Given the description of an element on the screen output the (x, y) to click on. 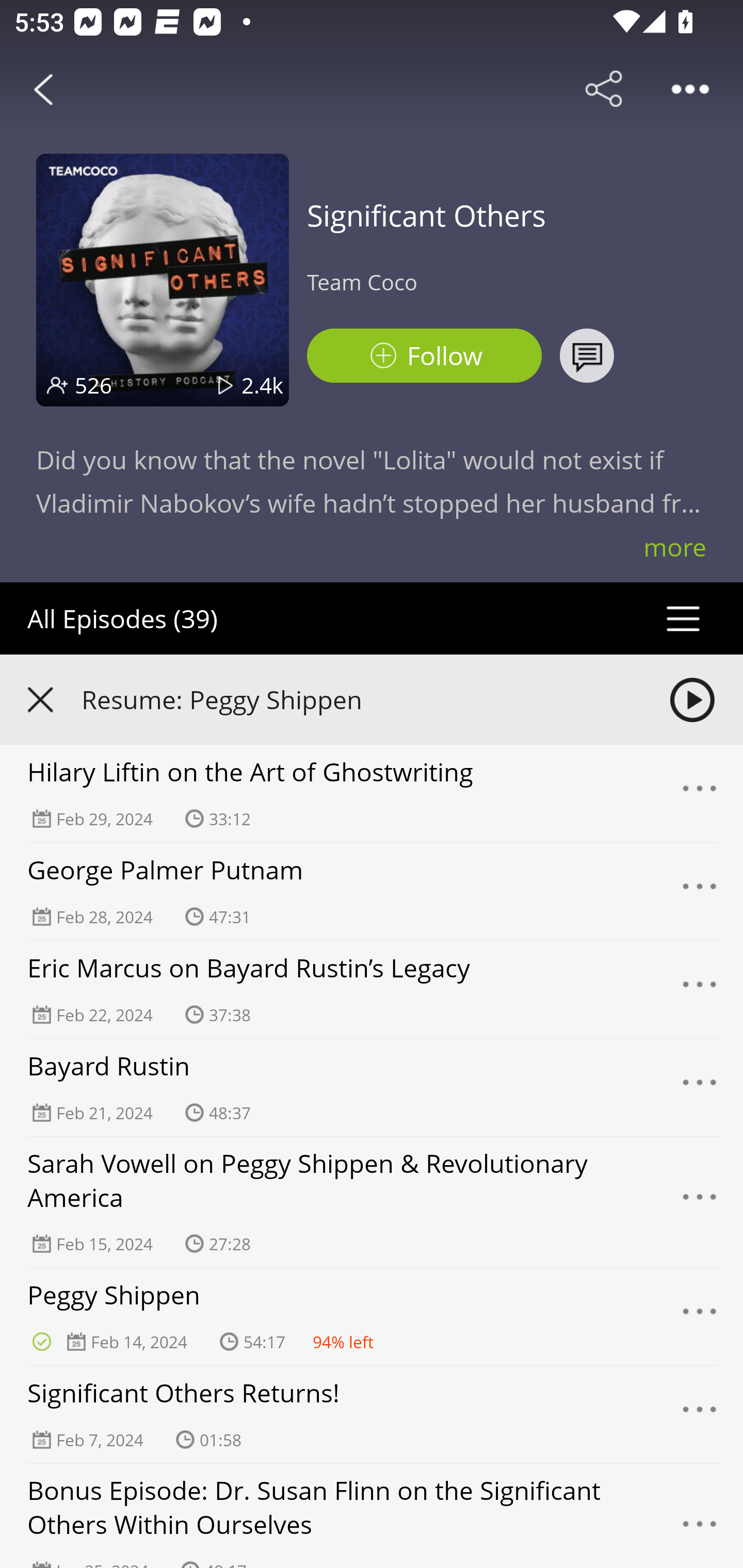
Back (43, 88)
Podbean Follow (423, 355)
526 (93, 384)
more (674, 546)
Resume: Peggy Shippen (371, 698)
Resume: Peggy Shippen (357, 698)
Menu (699, 794)
George Palmer Putnam Feb 28, 2024 47:31 Menu (371, 891)
Menu (699, 891)
Menu (699, 990)
Bayard Rustin Feb 21, 2024 48:37 Menu (371, 1087)
Menu (699, 1087)
Menu (699, 1201)
Peggy Shippen Feb 14, 2024 54:17 94% left Menu (371, 1316)
Menu (699, 1316)
Significant Others Returns! Feb 7, 2024 01:58 Menu (371, 1414)
Menu (699, 1415)
Menu (699, 1527)
